Given the description of an element on the screen output the (x, y) to click on. 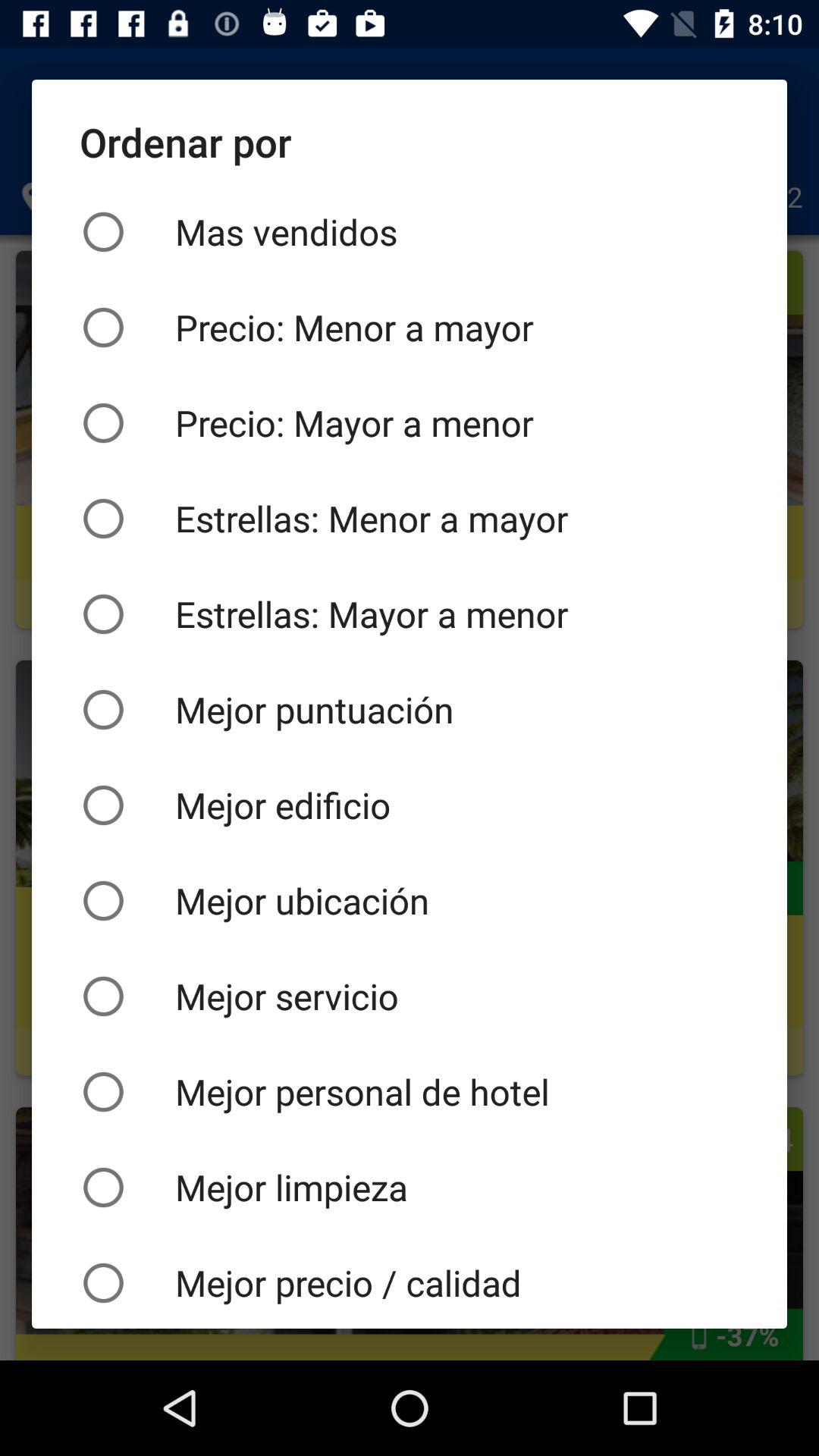
tap the mas vendidos  item (409, 231)
